Given the description of an element on the screen output the (x, y) to click on. 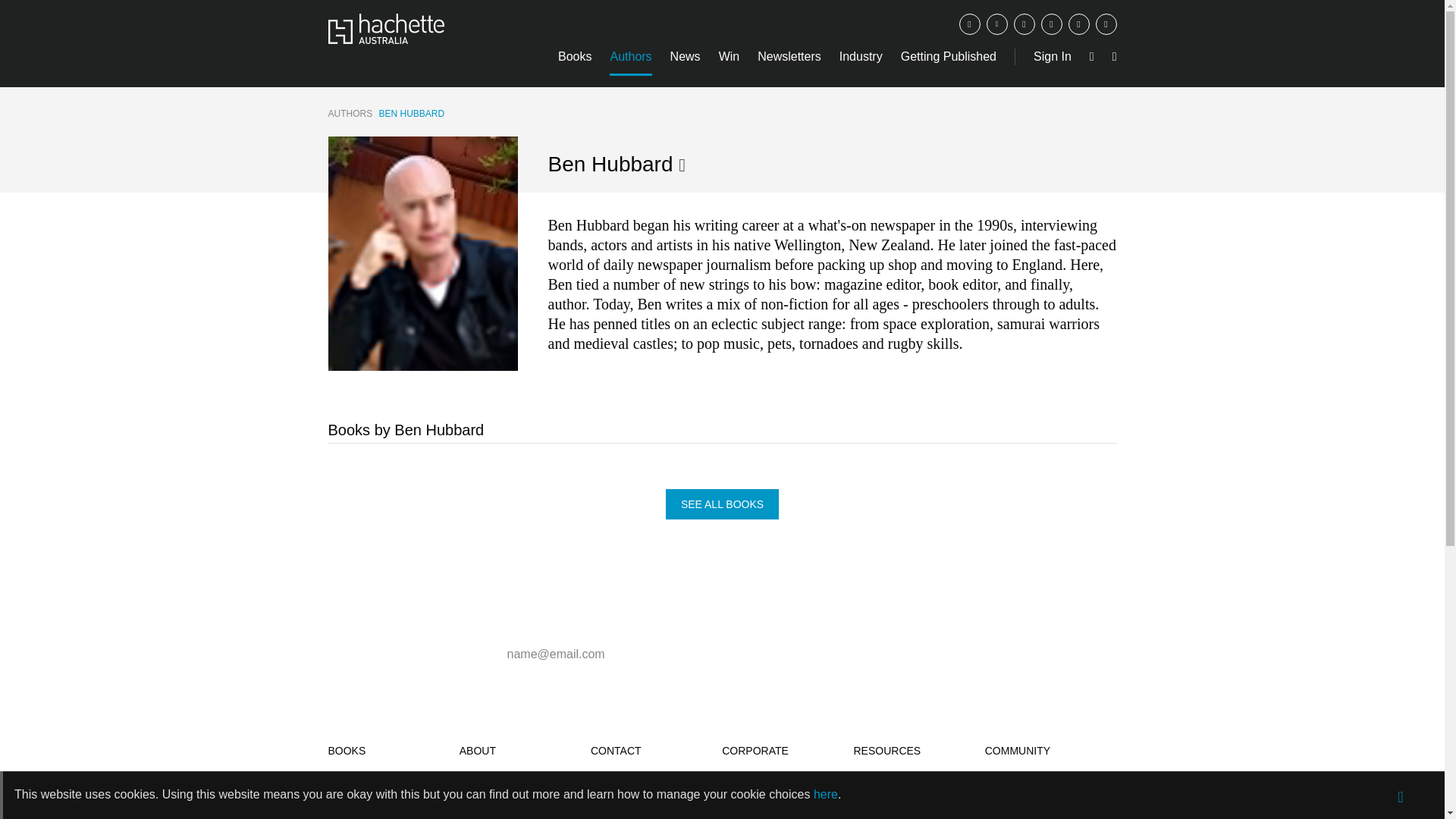
YouTube (1078, 24)
Win (729, 56)
Industry (861, 56)
Linkedin (1105, 24)
Books (574, 56)
News (684, 56)
Instagram (1023, 24)
Email (1051, 24)
Twitter (996, 24)
Authors (630, 56)
